Given the description of an element on the screen output the (x, y) to click on. 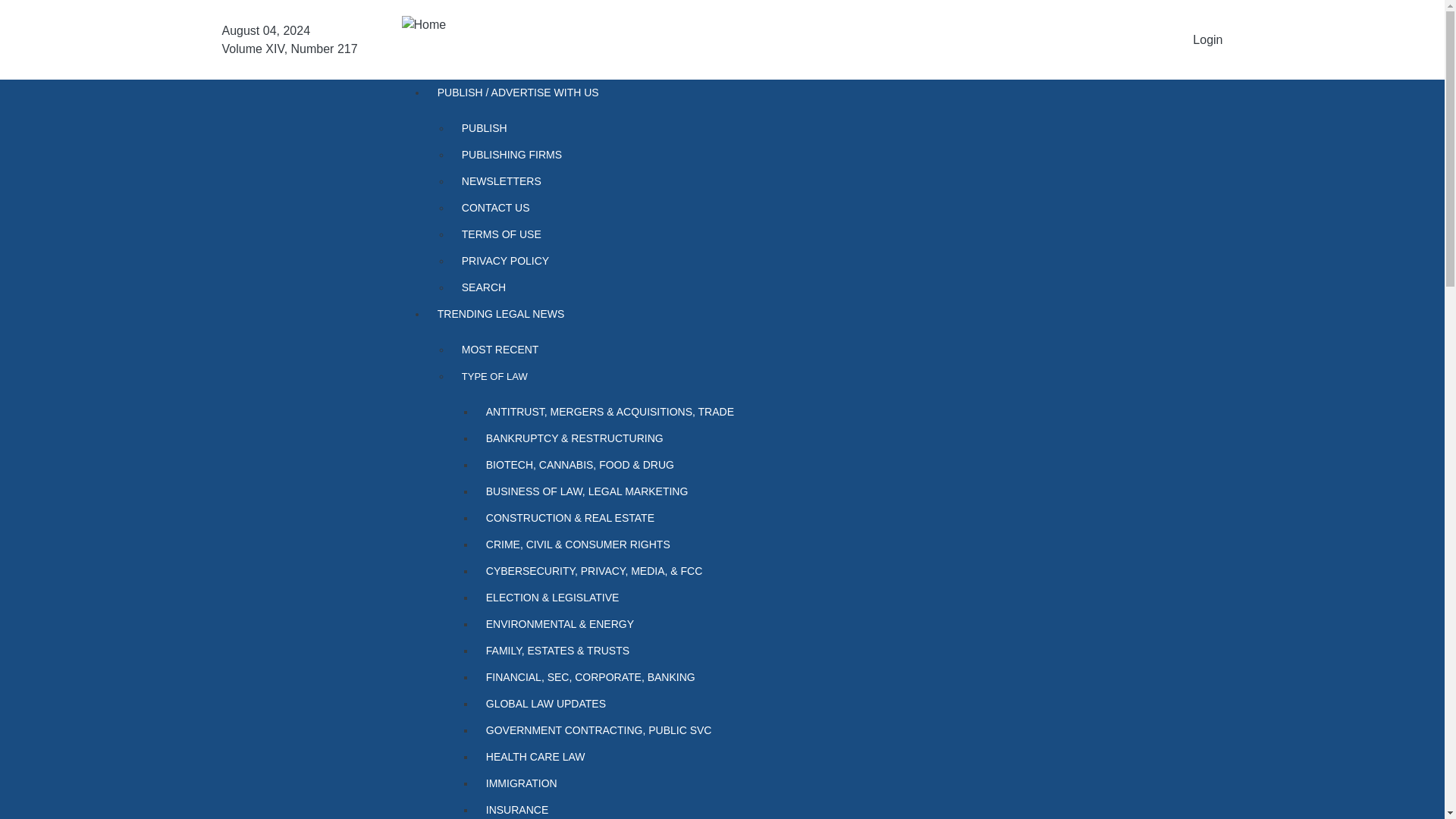
NEWSLETTERS (623, 181)
IMMIGRATION (636, 783)
HEALTH CARE LAW (636, 756)
Login (1207, 39)
GLOBAL LAW UPDATES (636, 704)
CONTACT US (623, 207)
GOVERNMENT CONTRACTING, PUBLIC SVC (636, 730)
FINANCIAL, SEC, CORPORATE, BANKING (636, 677)
MOST RECENT (623, 349)
PUBLISHING FIRMS (623, 154)
